Given the description of an element on the screen output the (x, y) to click on. 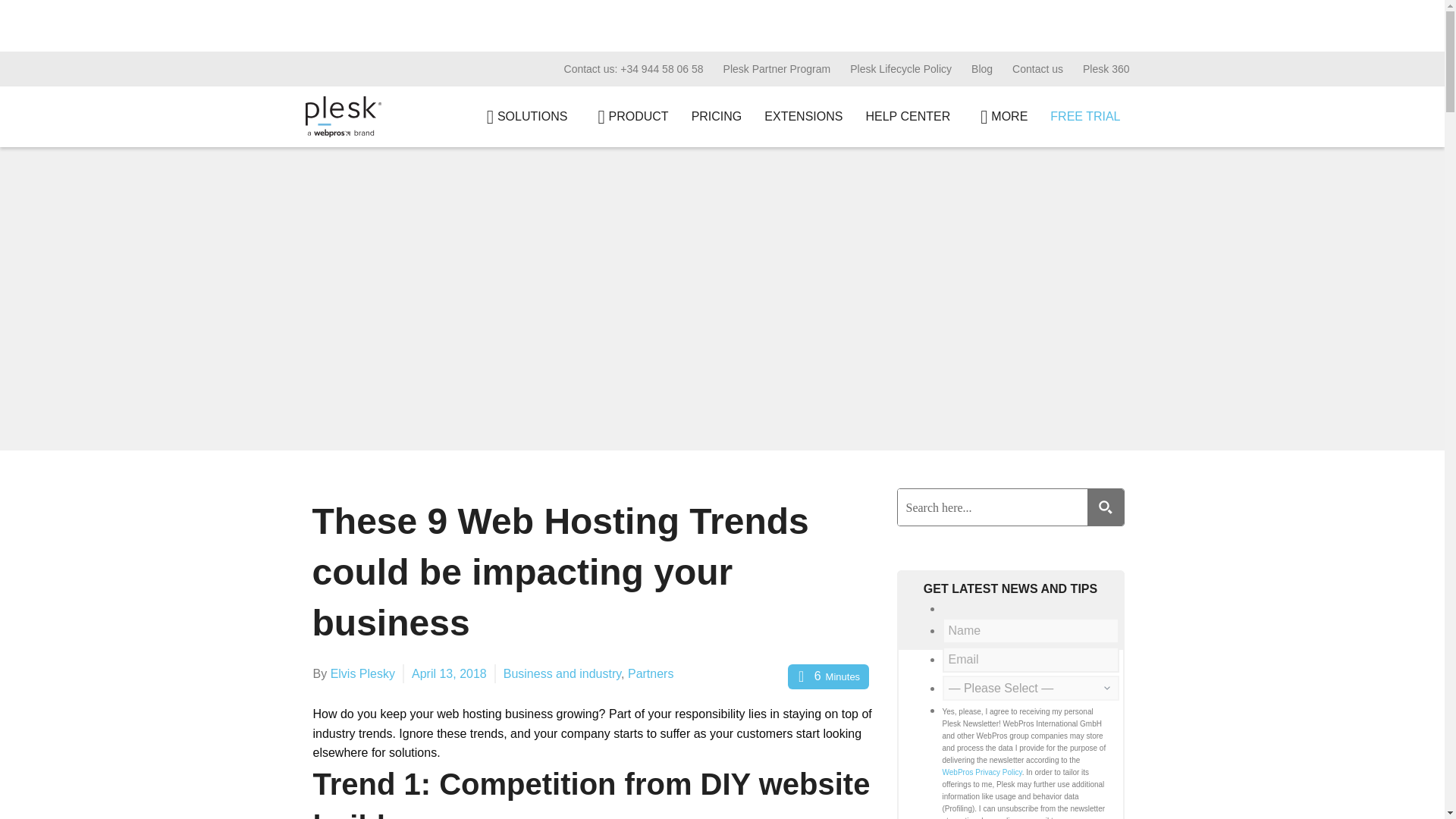
SOLUTIONS (523, 116)
Plesk Partner Program (777, 68)
Blog (981, 68)
Skip to content (15, 7)
Posts by Elvis Plesky (362, 673)
Contact us (1038, 68)
Plesk Lifecycle Policy (900, 68)
Plesk 360 (1105, 68)
